Given the description of an element on the screen output the (x, y) to click on. 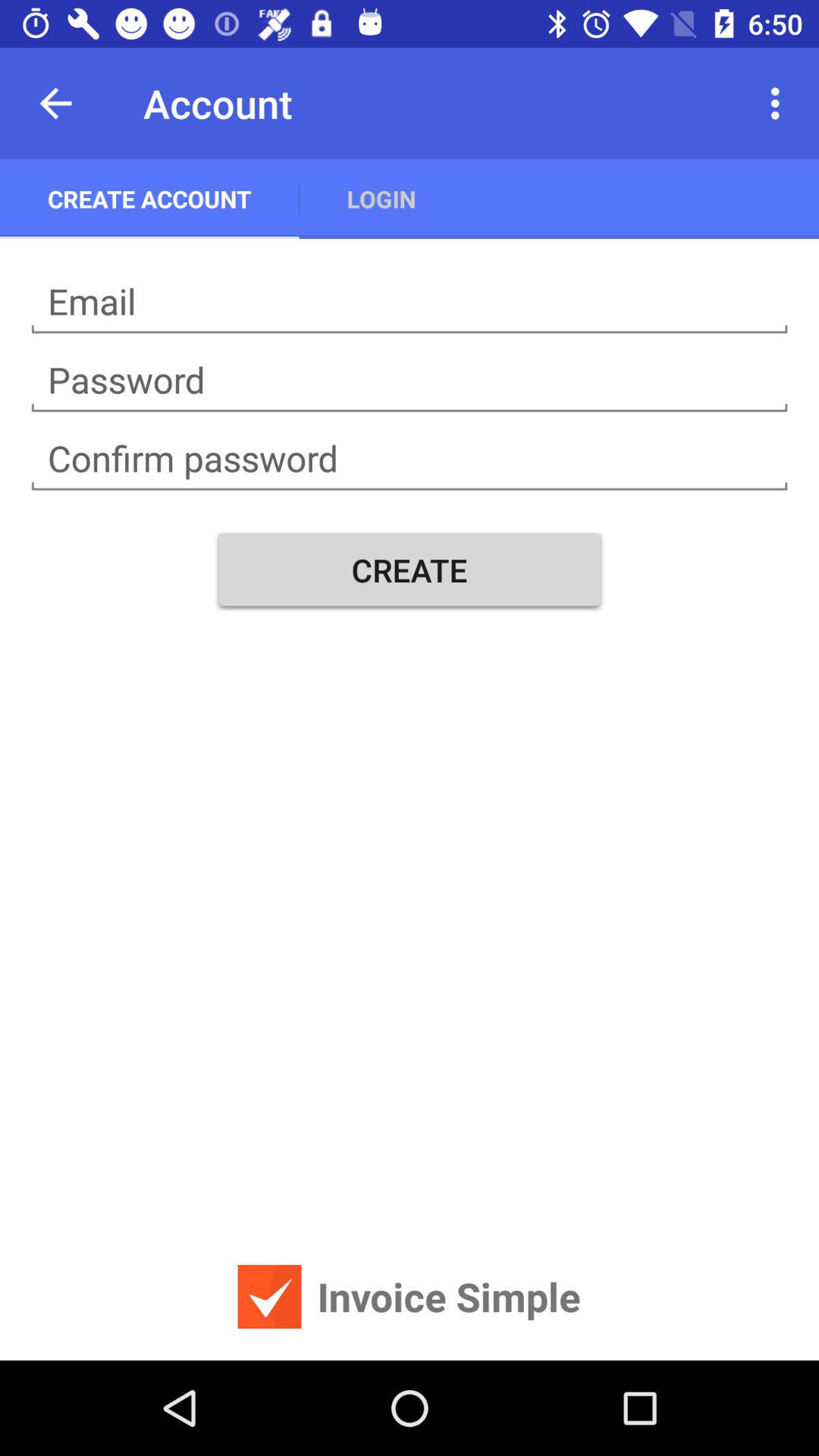
select icon below the account item (381, 198)
